Given the description of an element on the screen output the (x, y) to click on. 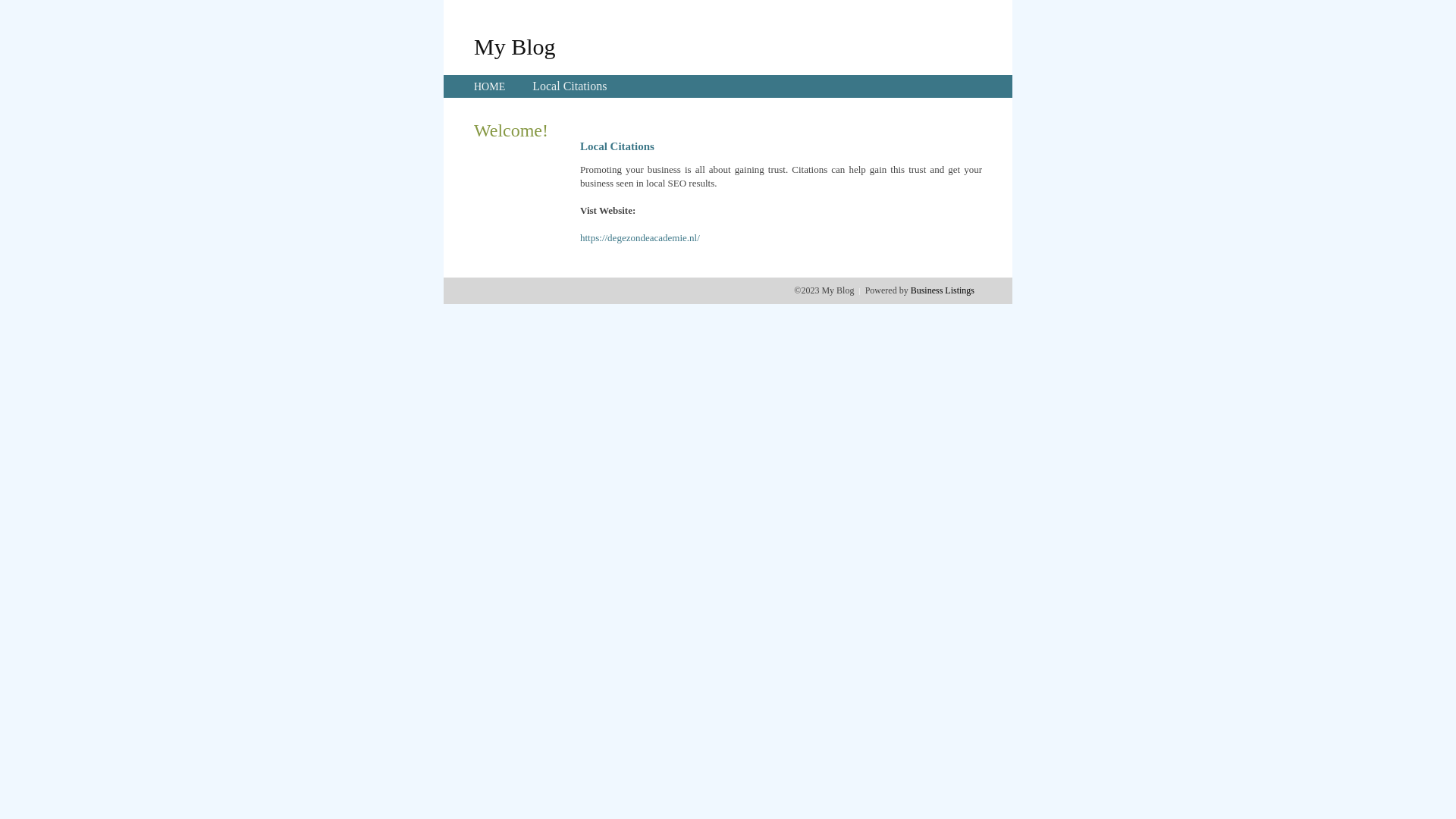
Local Citations Element type: text (569, 85)
Business Listings Element type: text (942, 290)
HOME Element type: text (489, 86)
https://degezondeacademie.nl/ Element type: text (639, 237)
My Blog Element type: text (514, 46)
